Given the description of an element on the screen output the (x, y) to click on. 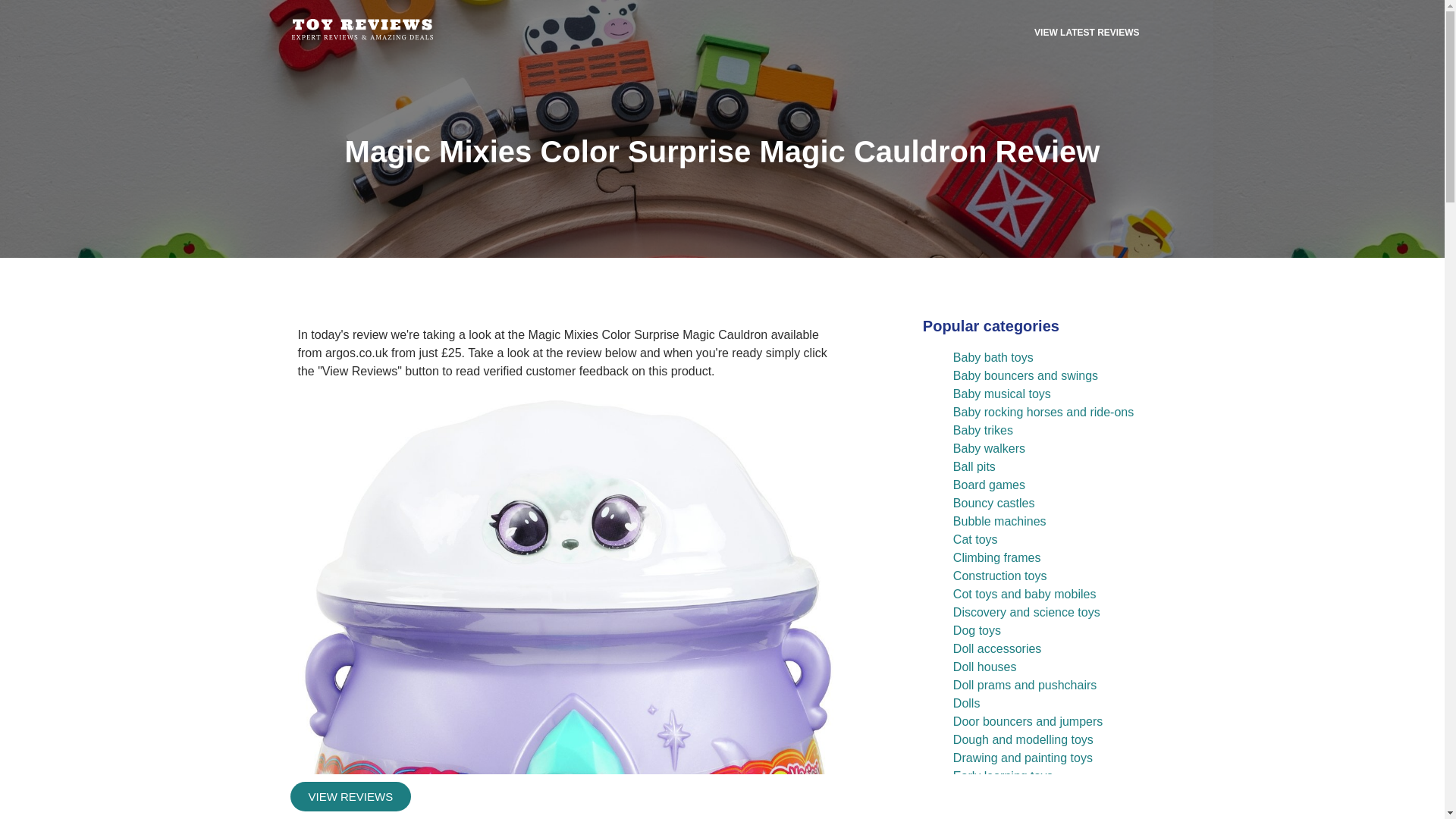
Baby bath toys (993, 357)
Bubble machines (999, 521)
Bouncy castles (994, 502)
Climbing frames (997, 557)
Cot toys and baby mobiles (1024, 594)
Baby rocking horses and ride-ons (1043, 411)
Ball pits (974, 466)
Cat toys (975, 539)
Baby walkers (989, 448)
Construction toys (999, 575)
Baby musical toys (1002, 393)
VIEW LATEST REVIEWS (1086, 32)
Board games (989, 484)
Baby trikes (983, 430)
Baby bouncers and swings (1025, 375)
